Given the description of an element on the screen output the (x, y) to click on. 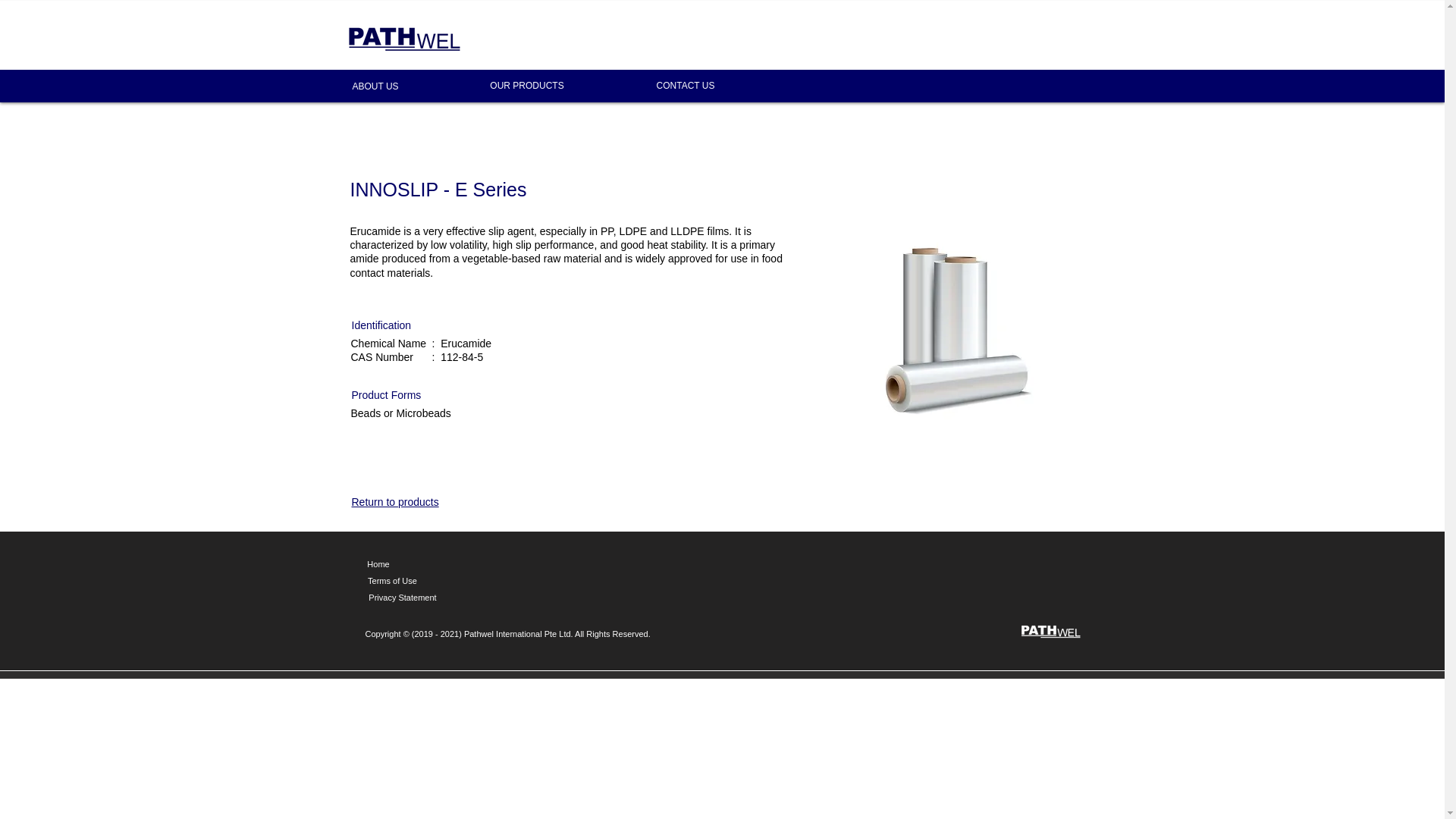
ABOUT US (374, 86)
CONTACT US (684, 85)
Return to products (395, 501)
Privacy Statement (402, 597)
Home (377, 564)
Terms of Use (392, 581)
OUR PRODUCTS (525, 85)
